Given the description of an element on the screen output the (x, y) to click on. 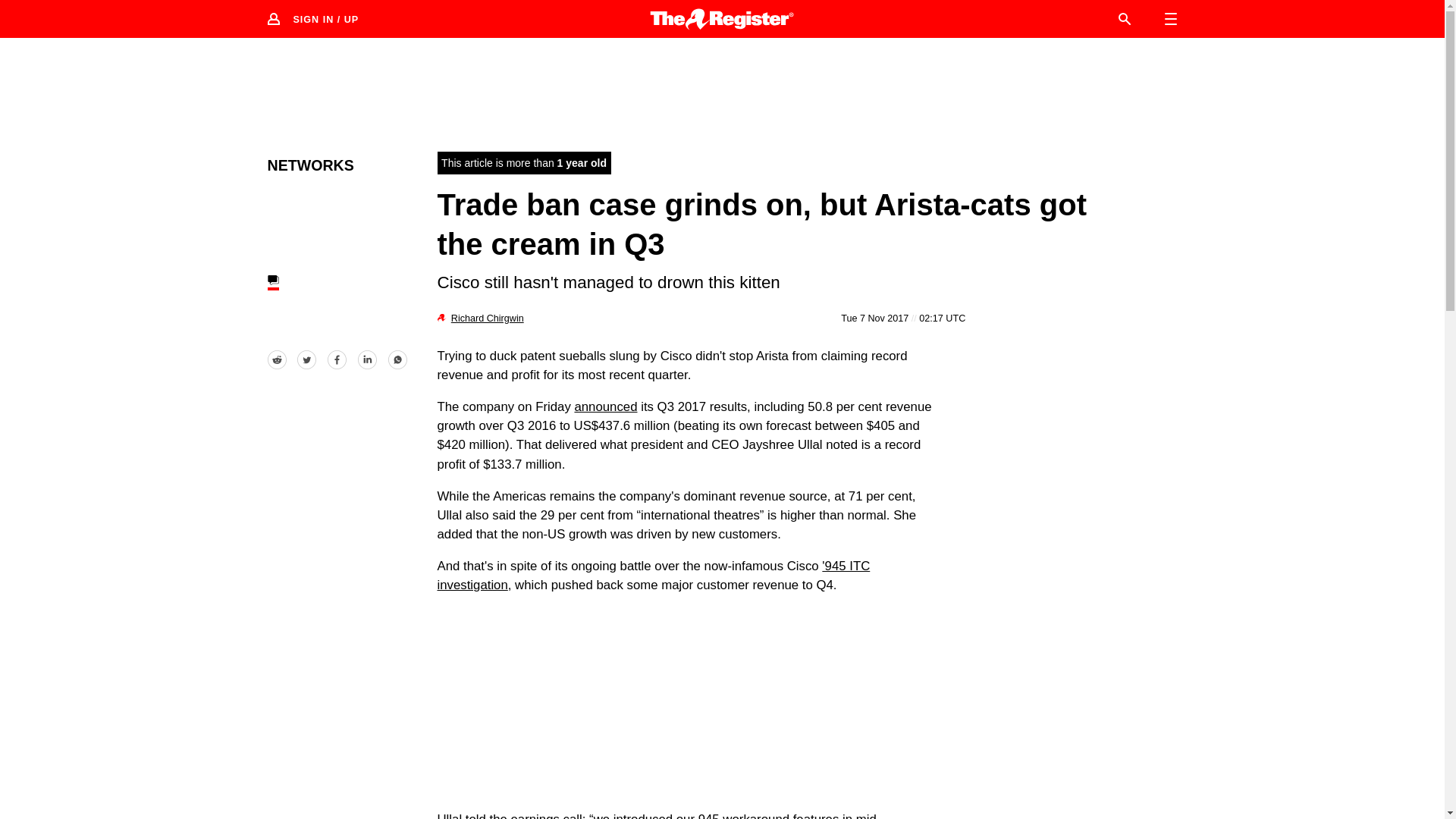
Read more by this author (487, 318)
